Given the description of an element on the screen output the (x, y) to click on. 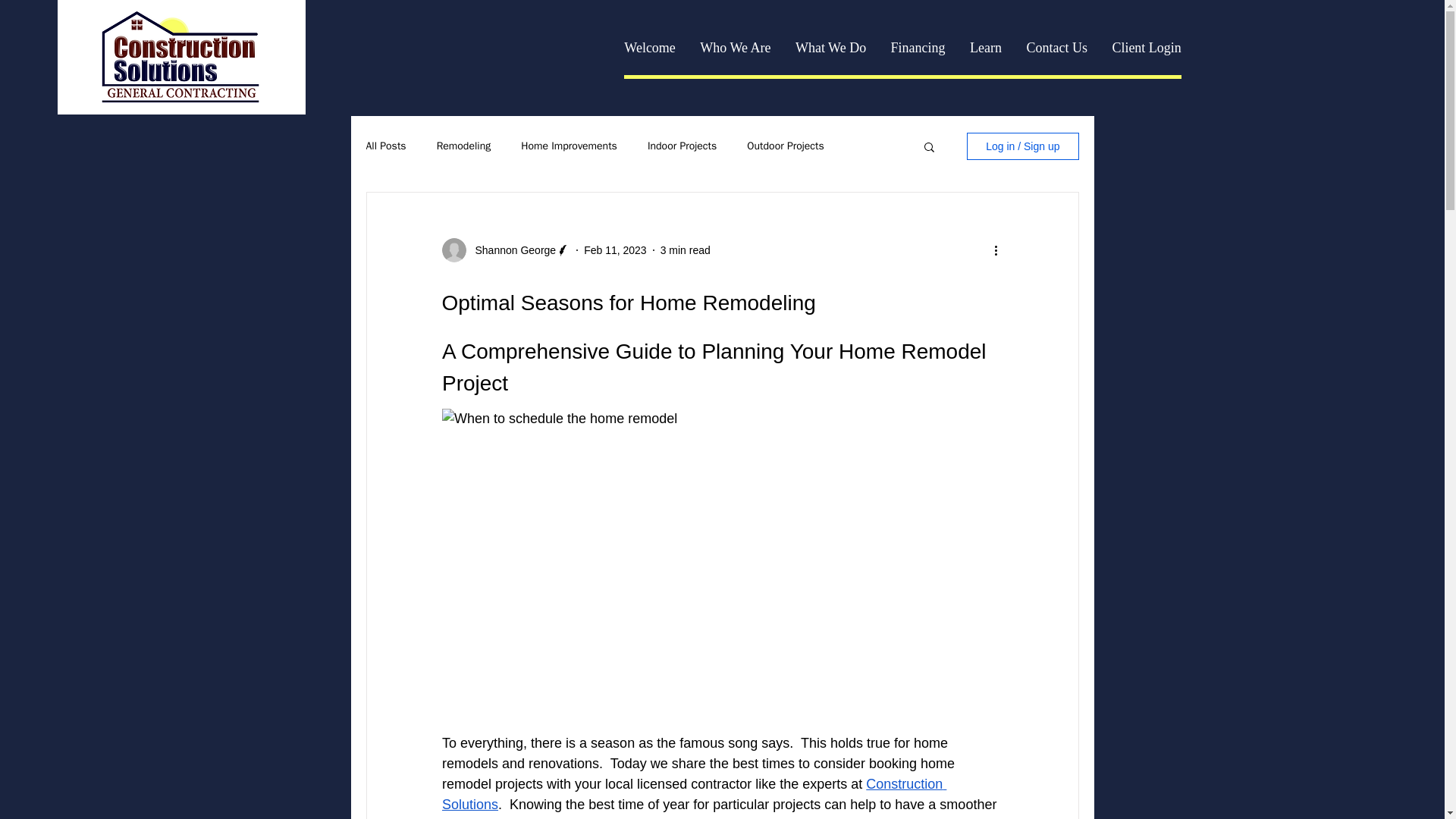
All Posts (385, 146)
Home Improvements (569, 146)
Shannon George (510, 250)
Outdoor Projects (785, 146)
Remodeling (464, 146)
3 min read (685, 250)
Construction Solutions (692, 794)
Client Login (1146, 48)
Learn (985, 48)
Indoor Projects (681, 146)
